Given the description of an element on the screen output the (x, y) to click on. 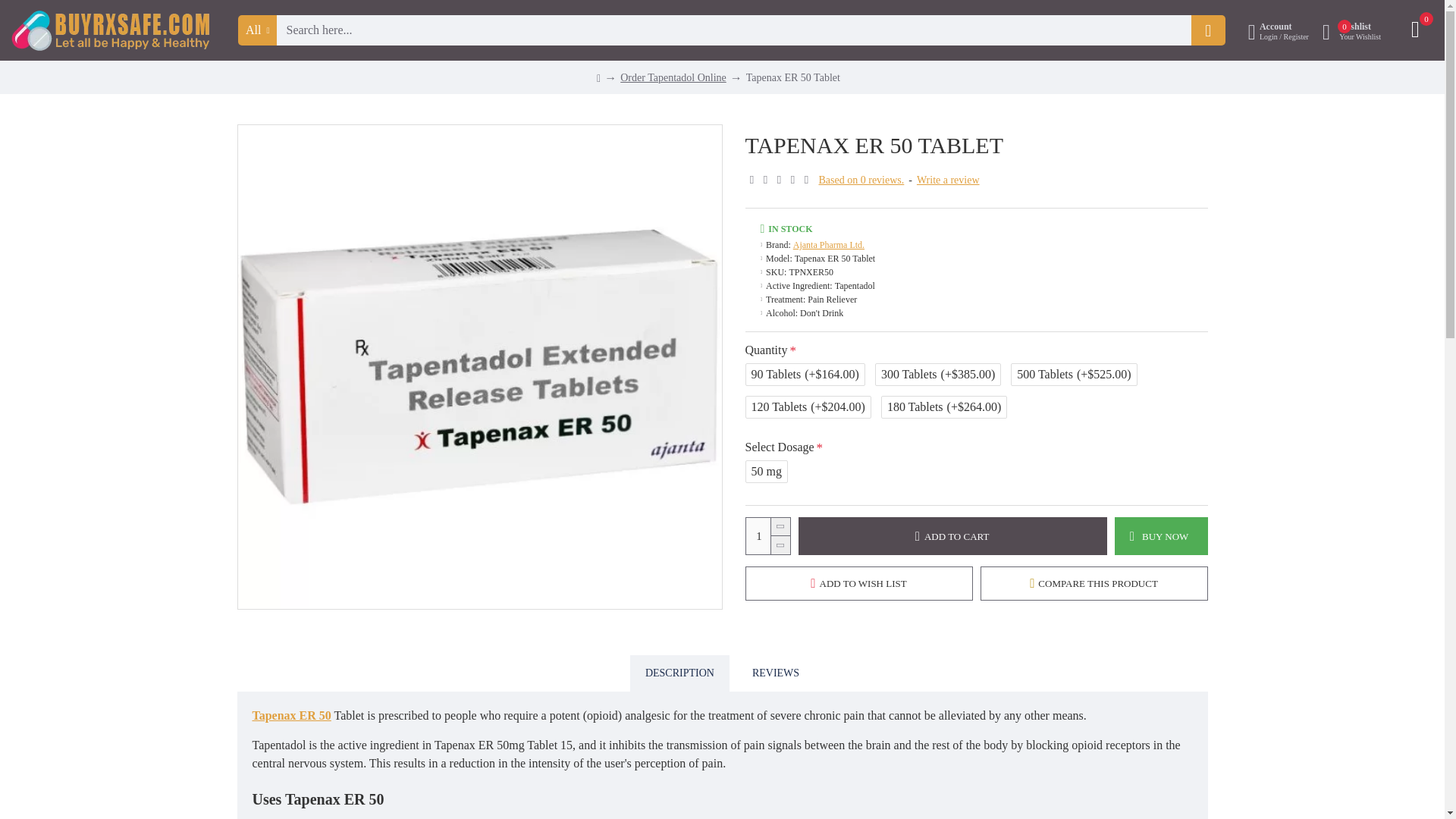
BUYRXSAFE (111, 30)
1 (767, 535)
